Given the description of an element on the screen output the (x, y) to click on. 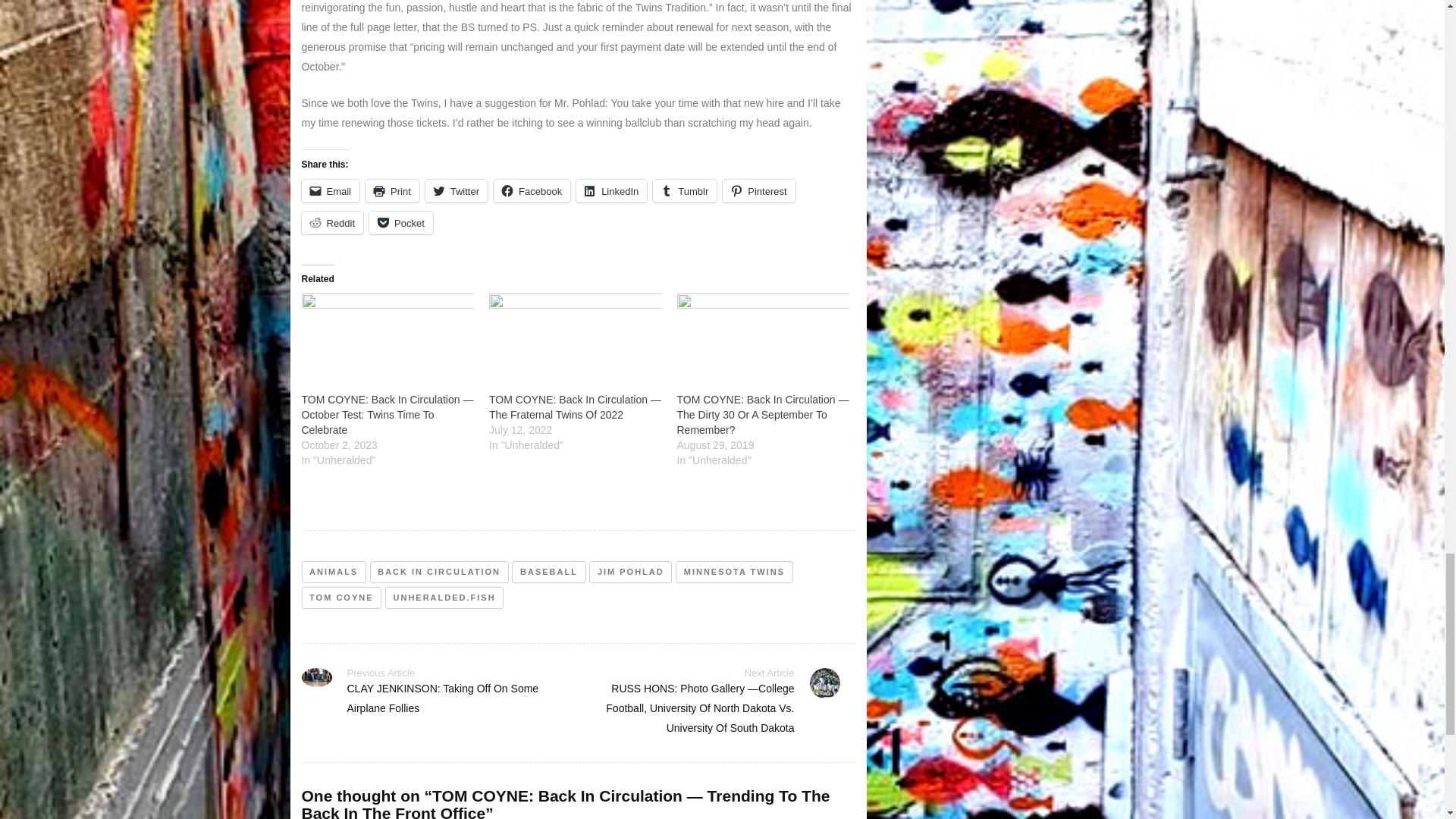
Print (392, 190)
MINNESOTA TWINS (733, 572)
Click to share on LinkedIn (611, 190)
BACK IN CIRCULATION (438, 572)
Click to email a link to a friend (330, 190)
Tumblr (684, 190)
Email (330, 190)
Click to share on Tumblr (684, 190)
Click to share on Facebook (531, 190)
Reddit (332, 222)
Click to share on Reddit (332, 222)
Click to share on Pinterest (758, 190)
Click to share on Twitter (456, 190)
LinkedIn (611, 190)
CLAY JENKINSON: Taking Off On Some Airplane Follies (442, 698)
